Given the description of an element on the screen output the (x, y) to click on. 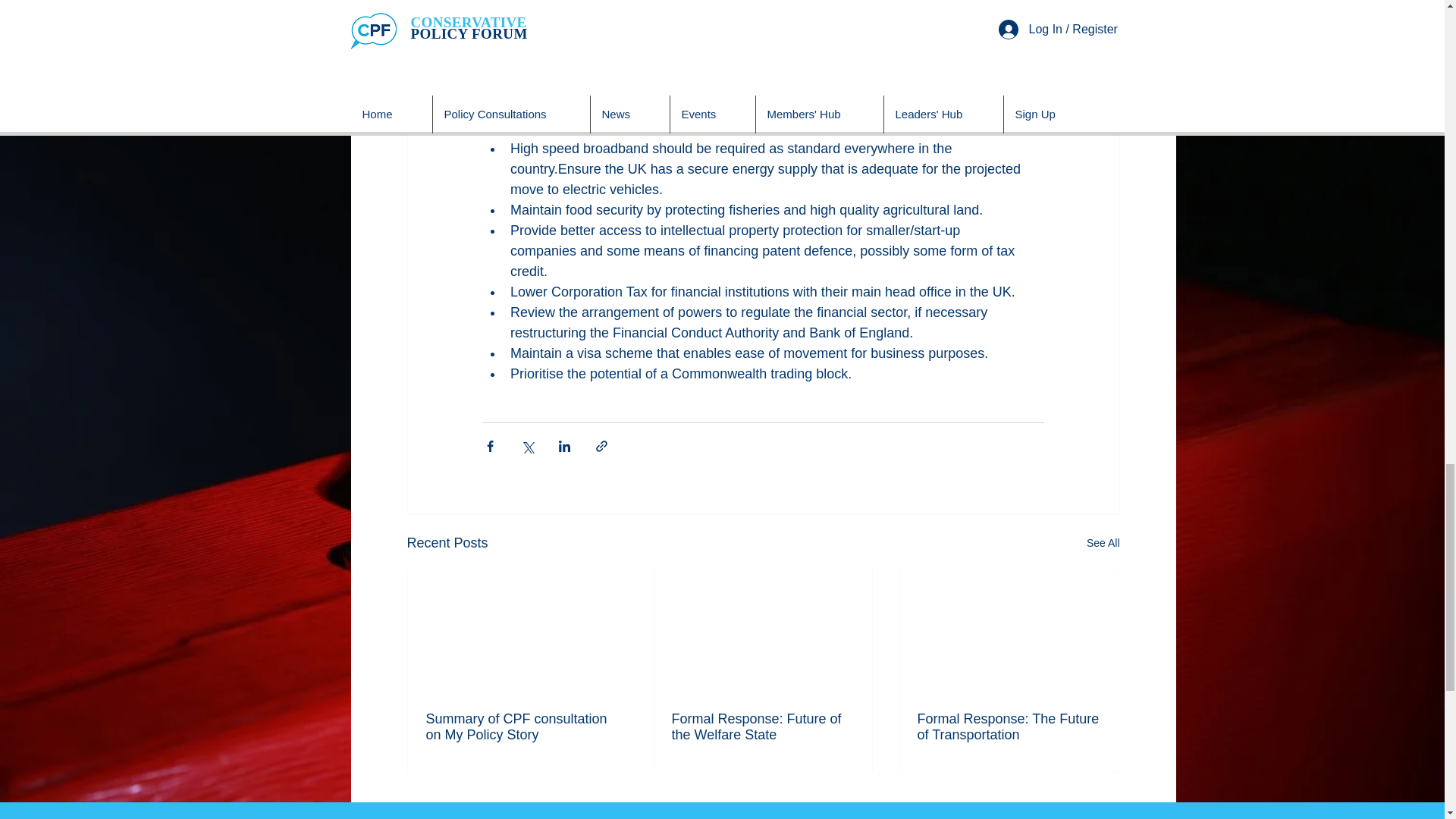
See All (1102, 543)
Summary of CPF consultation on My Policy Story (517, 726)
Formal Response: Future of the Welfare State (762, 726)
Formal Response: The Future of Transportation (1008, 726)
